Given the description of an element on the screen output the (x, y) to click on. 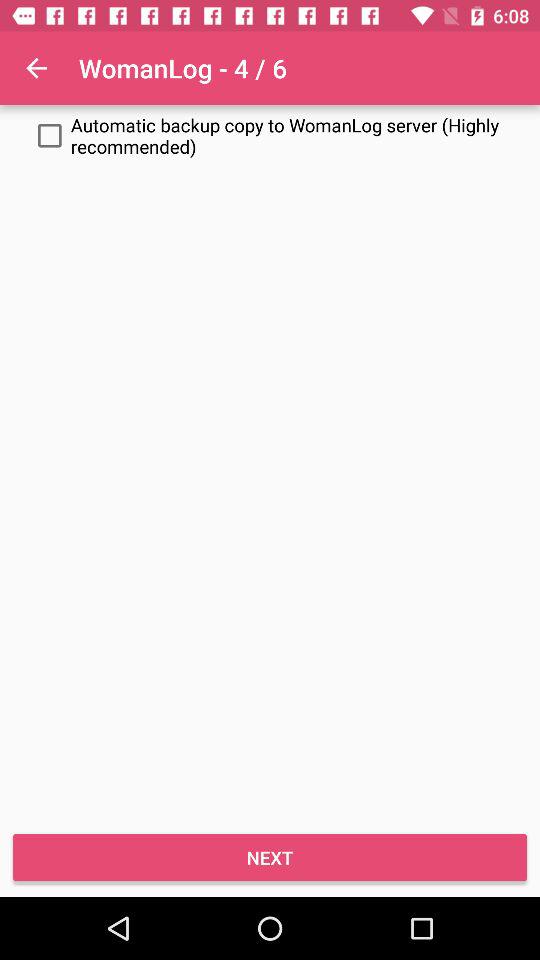
tap automatic backup copy (269, 135)
